Given the description of an element on the screen output the (x, y) to click on. 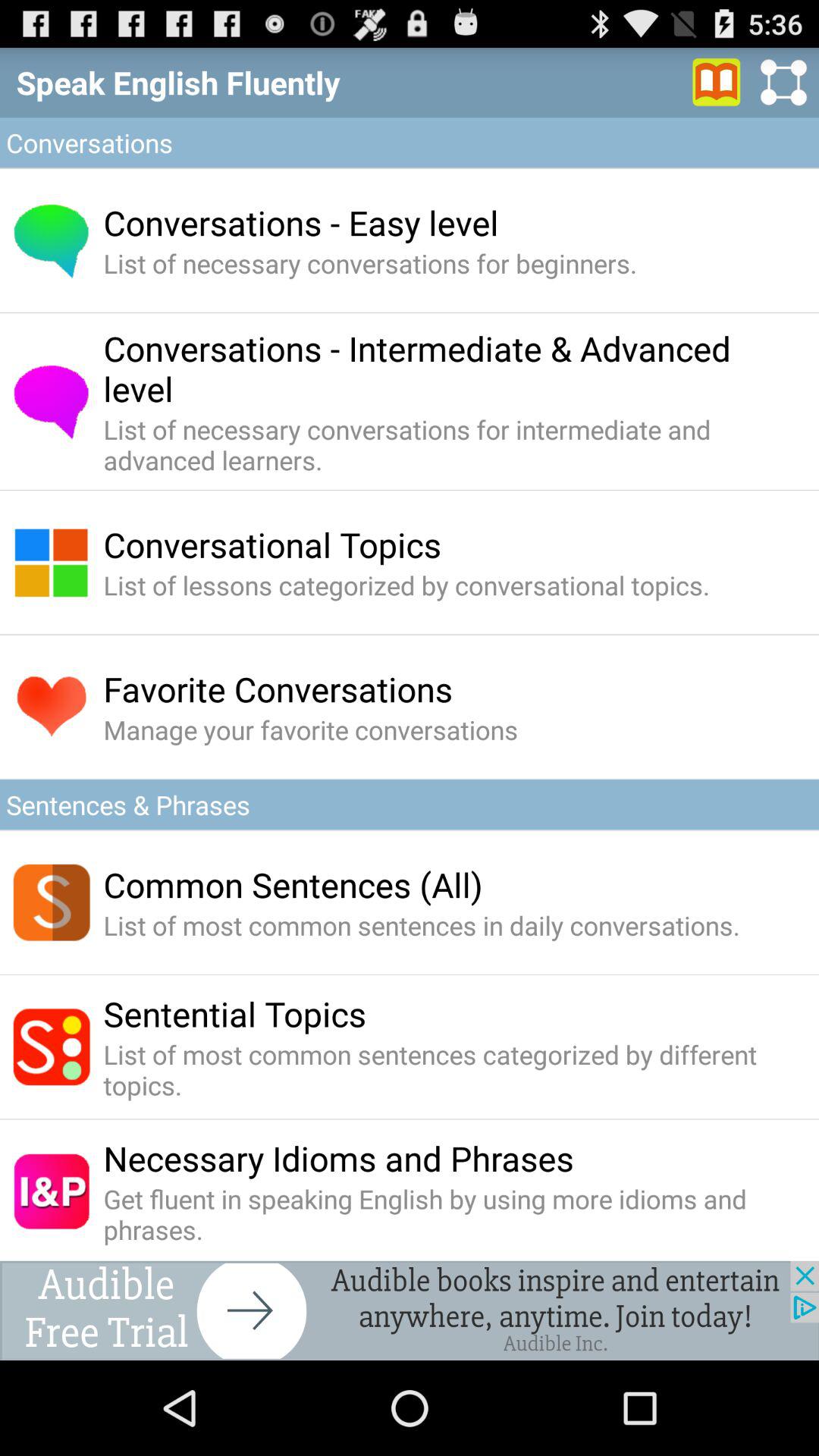
goto selection (717, 82)
